Given the description of an element on the screen output the (x, y) to click on. 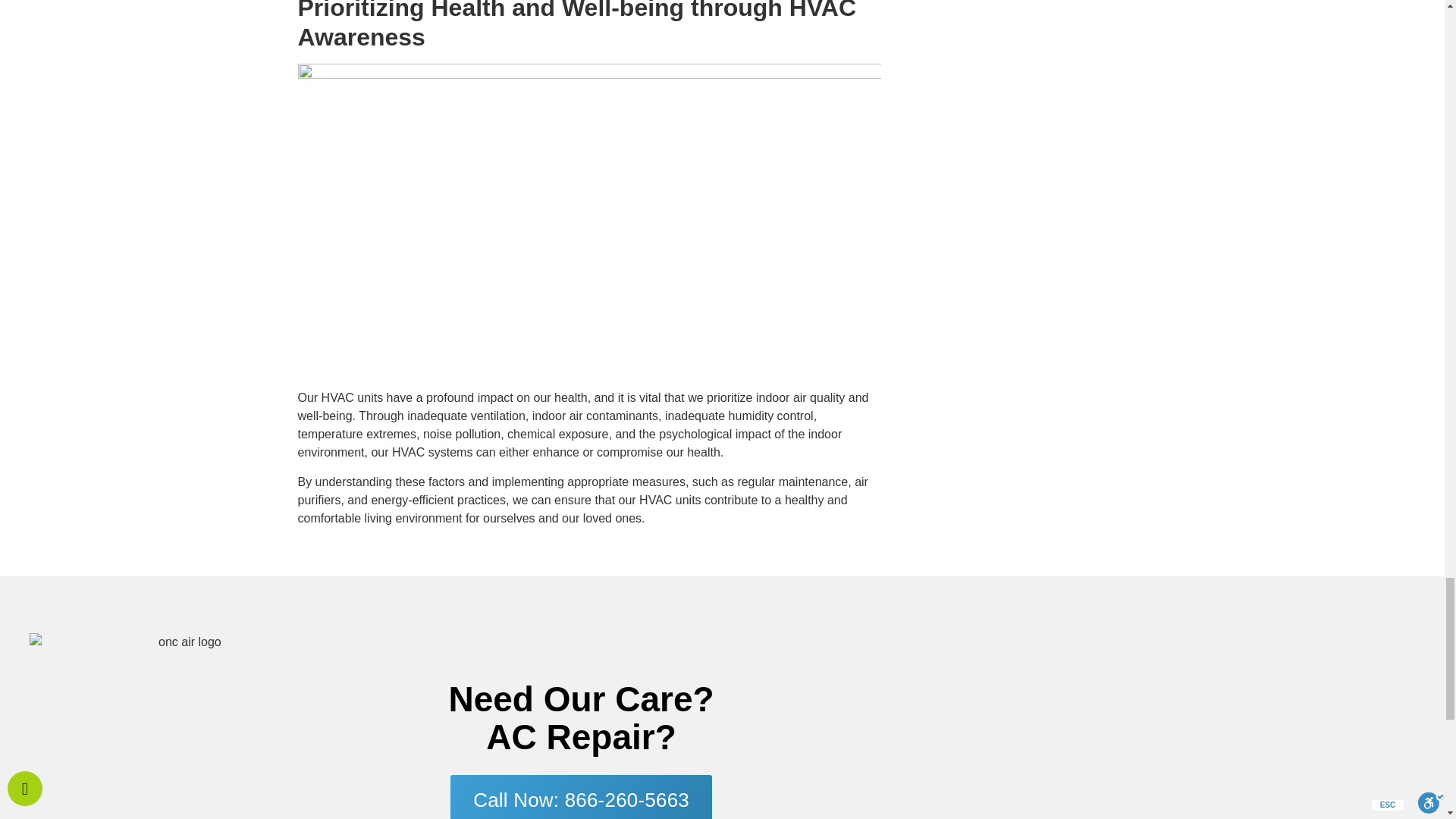
ONC AIR  (1174, 697)
